Given the description of an element on the screen output the (x, y) to click on. 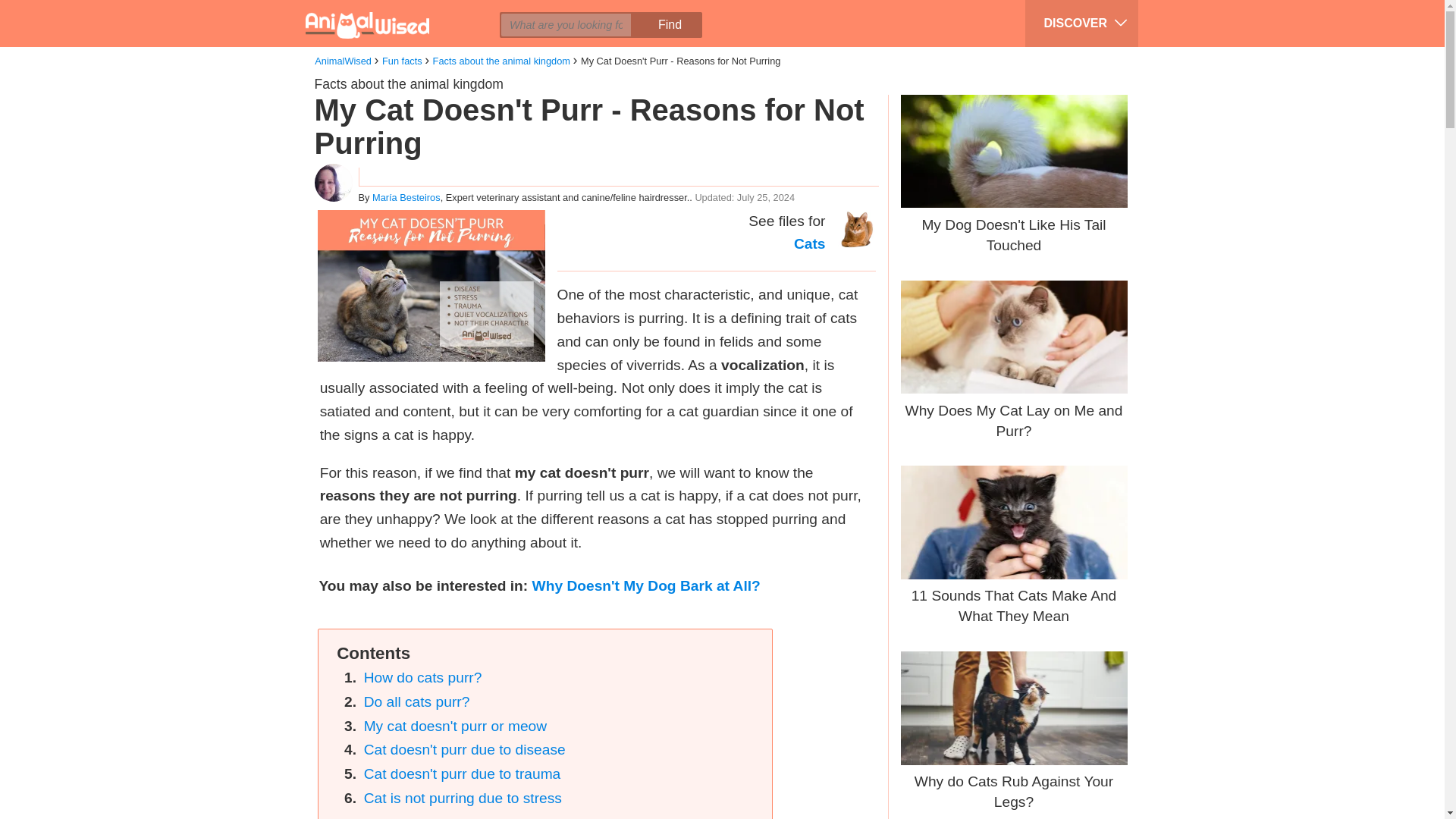
Do all cats purr? (417, 701)
Why Doesn't My Dog Bark at All? (646, 585)
twitter (399, 12)
Fun facts (401, 60)
Facts about the animal kingdom (408, 83)
Cat doesn't purr due to trauma (462, 773)
whatsapp (456, 12)
AnimalWised (342, 60)
Facts about the animal kingdom (501, 60)
Find (668, 24)
facebook (370, 12)
Cat is not purring due to stress (463, 797)
Cat doesn't purr due to disease (465, 749)
imprimir (485, 12)
pinterest (427, 12)
